Given the description of an element on the screen output the (x, y) to click on. 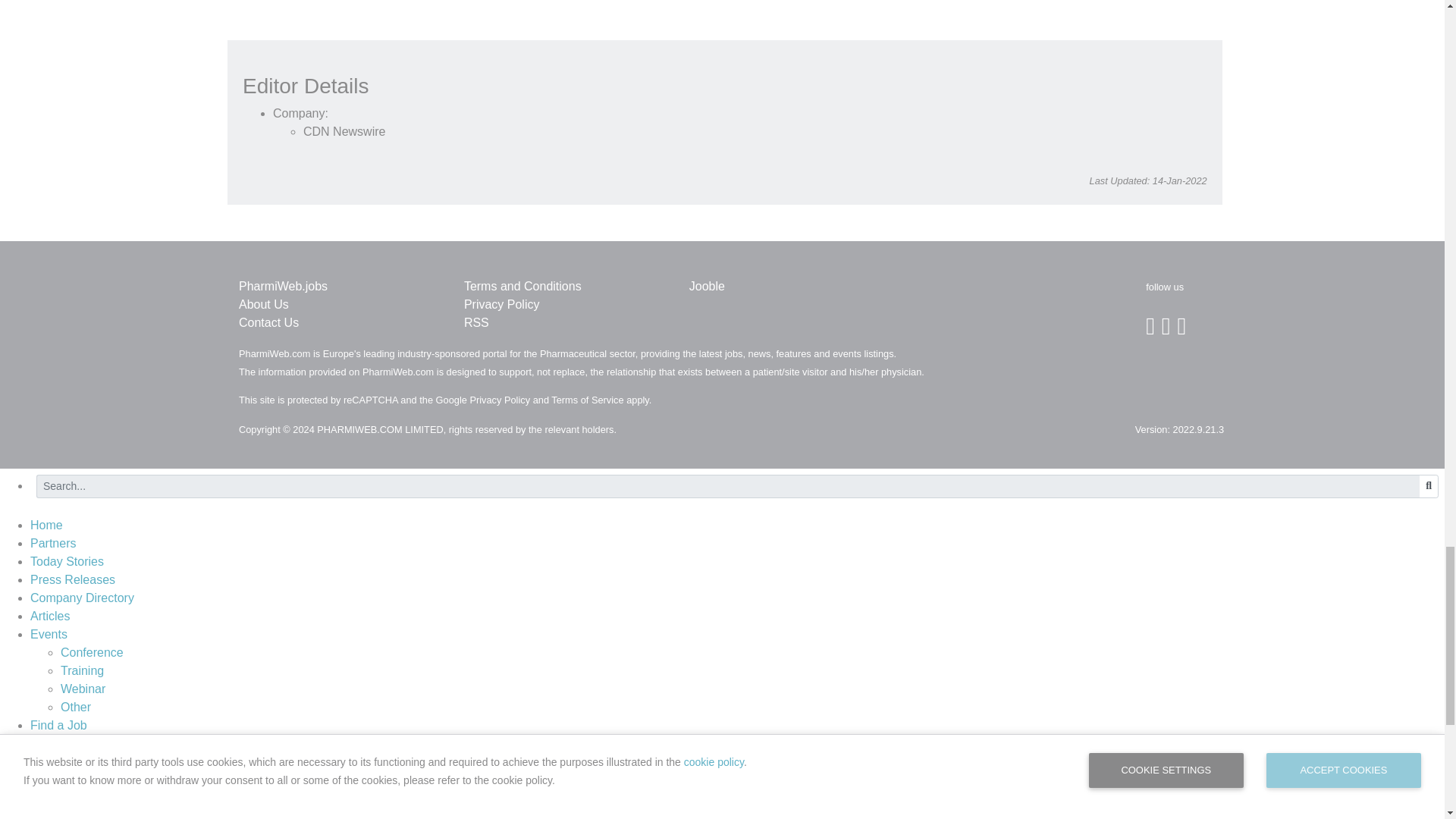
Conference (92, 652)
PharmiWeb.jobs (282, 286)
Privacy Policy (502, 304)
Jooble (706, 286)
Privacy Policy (498, 399)
Terms of Service (587, 399)
Training (82, 670)
Terms and Conditions (522, 286)
RSS (476, 322)
Company Directory (81, 597)
